Given the description of an element on the screen output the (x, y) to click on. 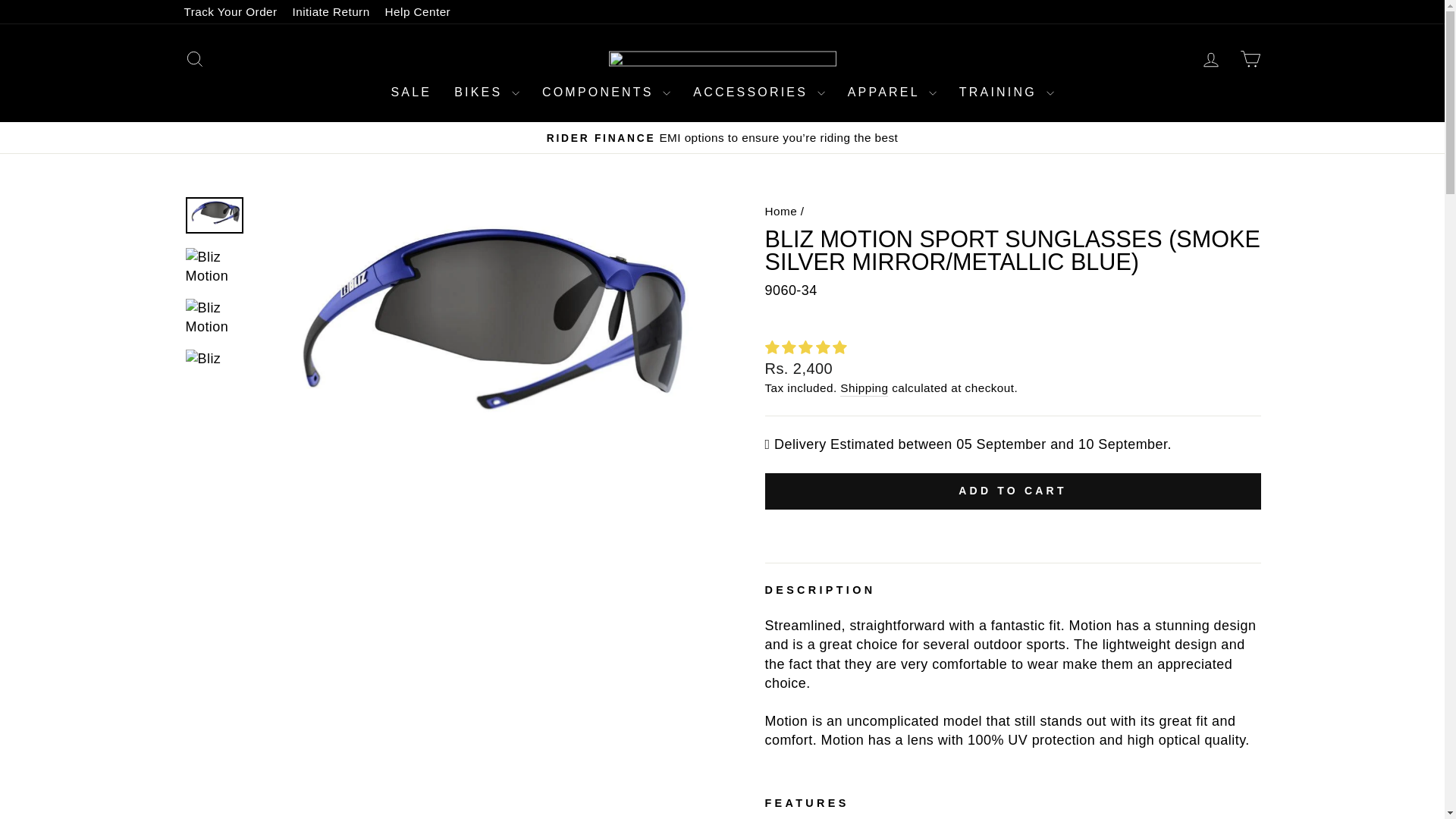
ICON-SEARCH (194, 58)
ACCOUNT (1210, 59)
Back to the frontpage (780, 210)
